Given the description of an element on the screen output the (x, y) to click on. 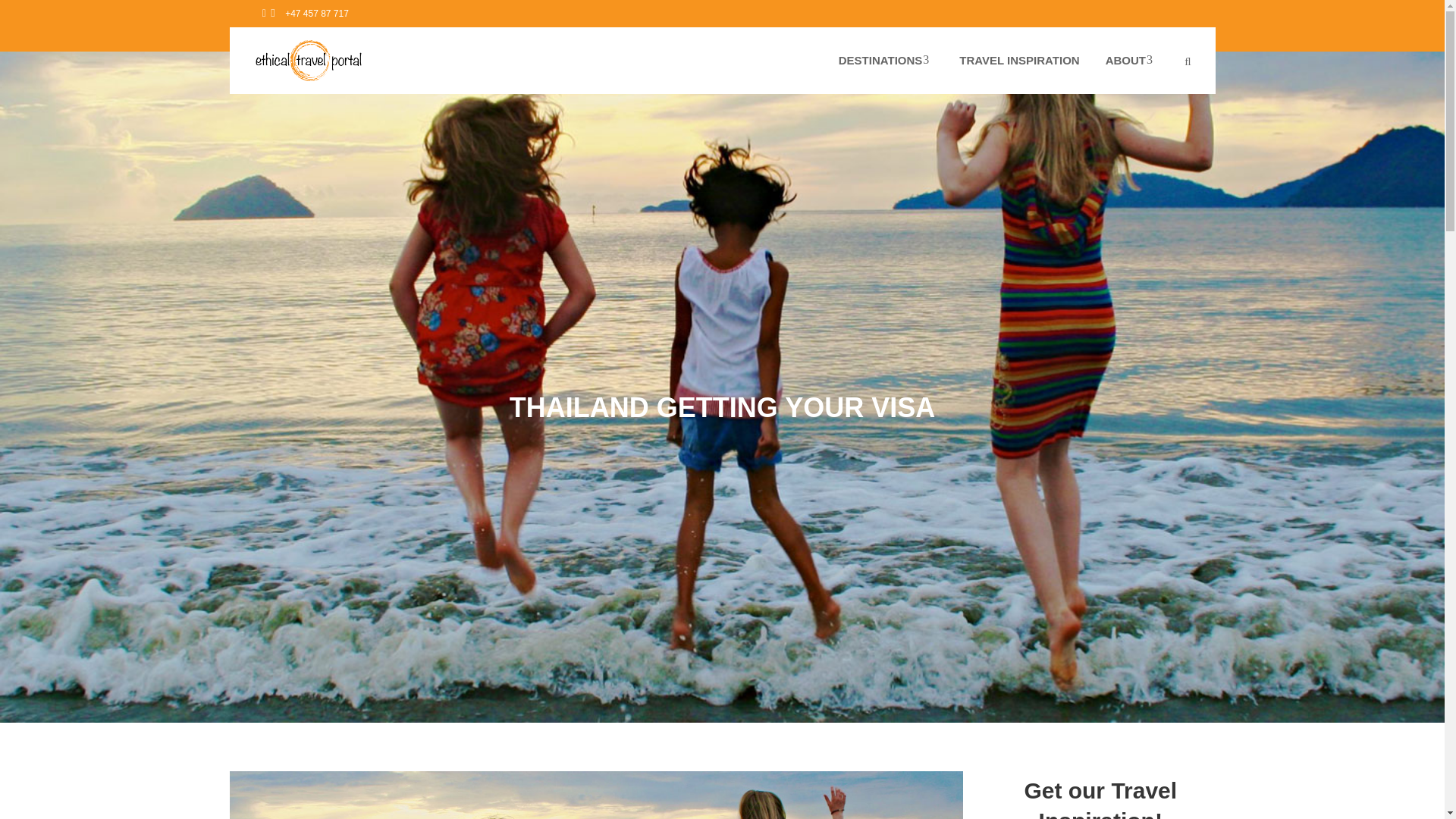
DESTINATIONS (886, 60)
TRAVEL INSPIRATION (1019, 60)
U (1007, 404)
ABOUT (1131, 60)
